Given the description of an element on the screen output the (x, y) to click on. 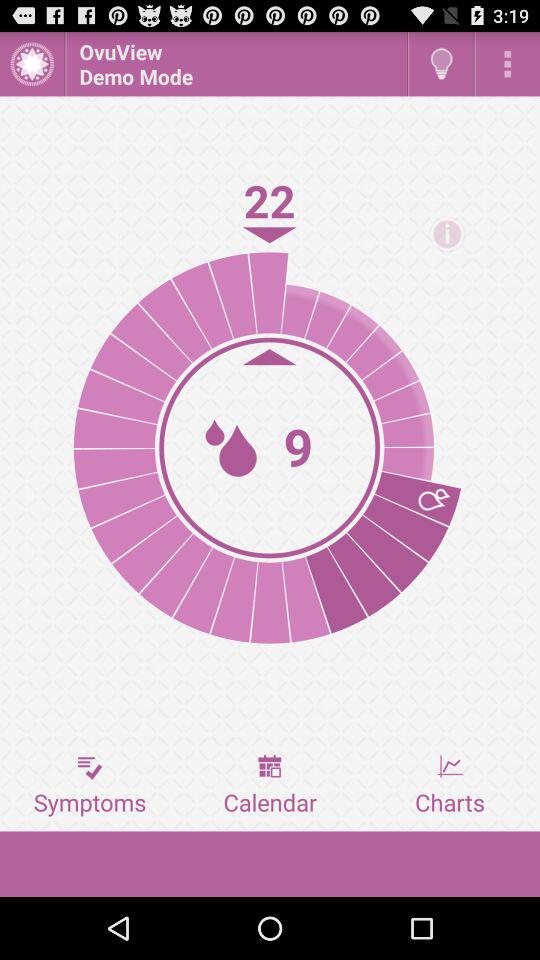
click button at the bottom left corner (90, 785)
